Given the description of an element on the screen output the (x, y) to click on. 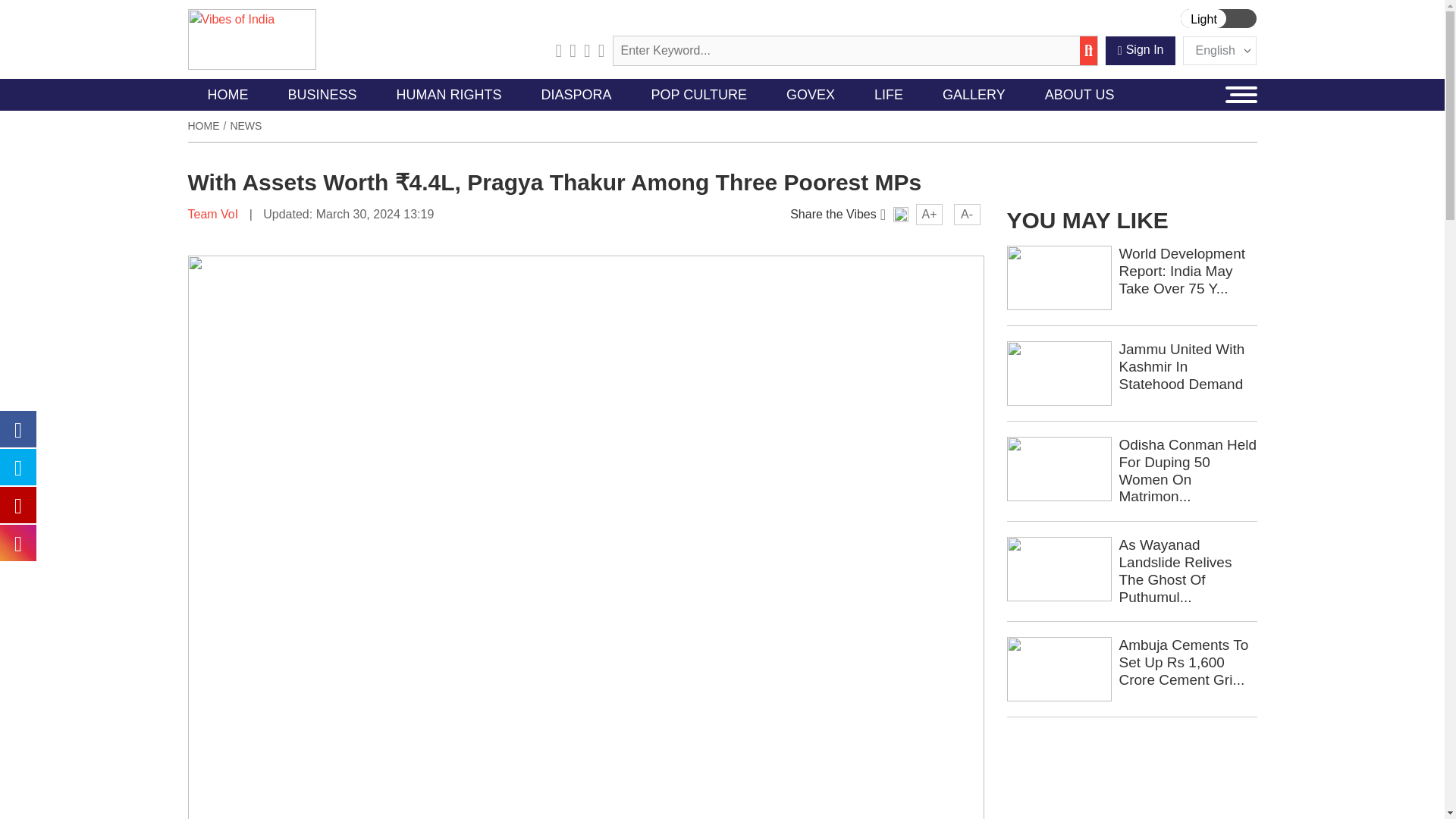
POP CULTURE (699, 94)
Sign In (1140, 50)
HOME (227, 94)
Jammu United With Kashmir In Statehood Demand (1059, 372)
Home (203, 125)
Vibes of India (251, 39)
DIASPORA (576, 94)
Vibes of India (251, 38)
ABOUT US (1079, 94)
GOVEX (810, 94)
LIFE (888, 94)
BUSINESS (322, 94)
